Given the description of an element on the screen output the (x, y) to click on. 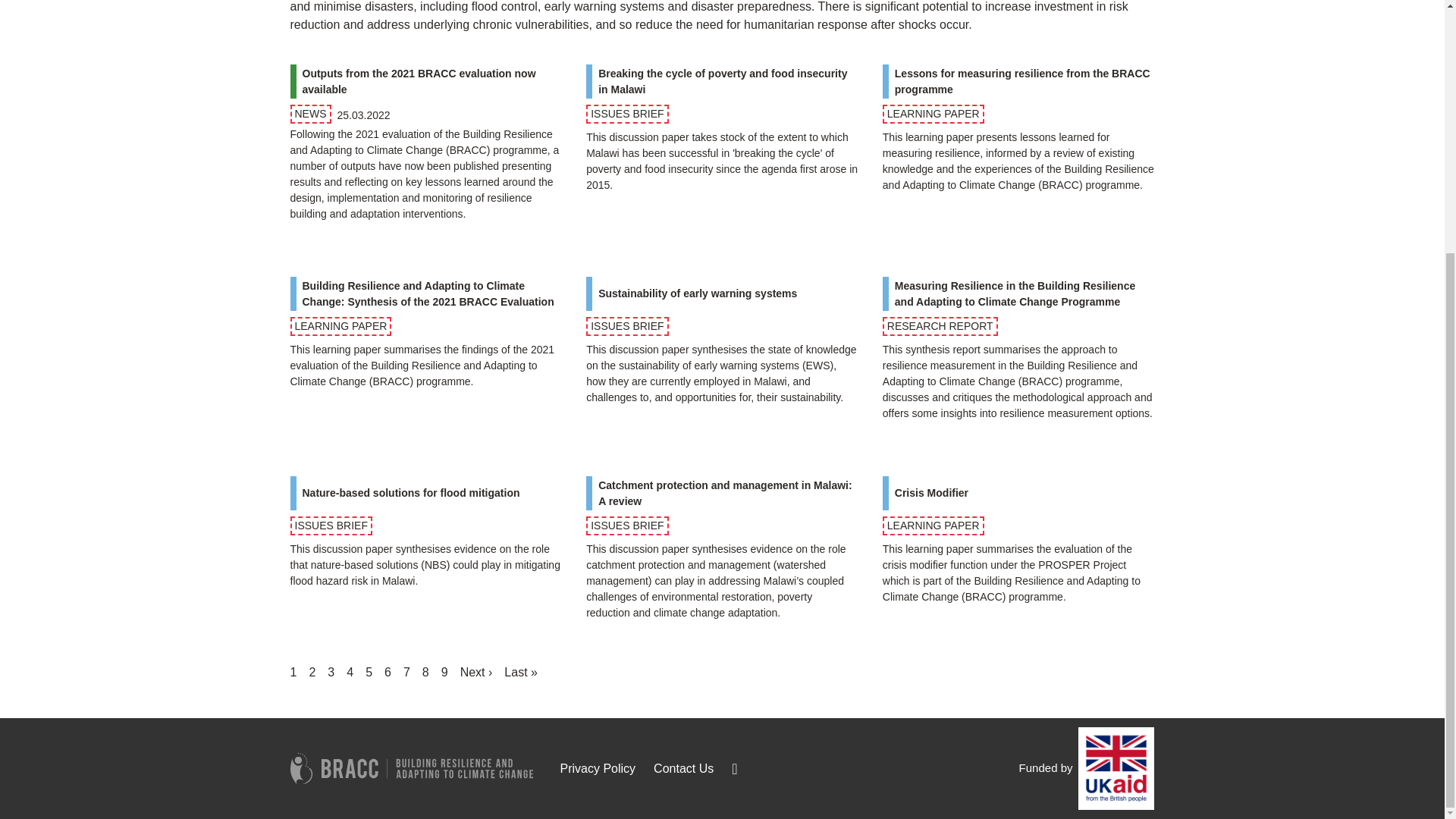
Privacy Policy (596, 768)
Go to page 6 (425, 672)
Contact Us (387, 672)
Crisis Modifier (444, 672)
Go to page 3 (311, 672)
Go to last page (330, 672)
Go to page 5 (368, 672)
